Given the description of an element on the screen output the (x, y) to click on. 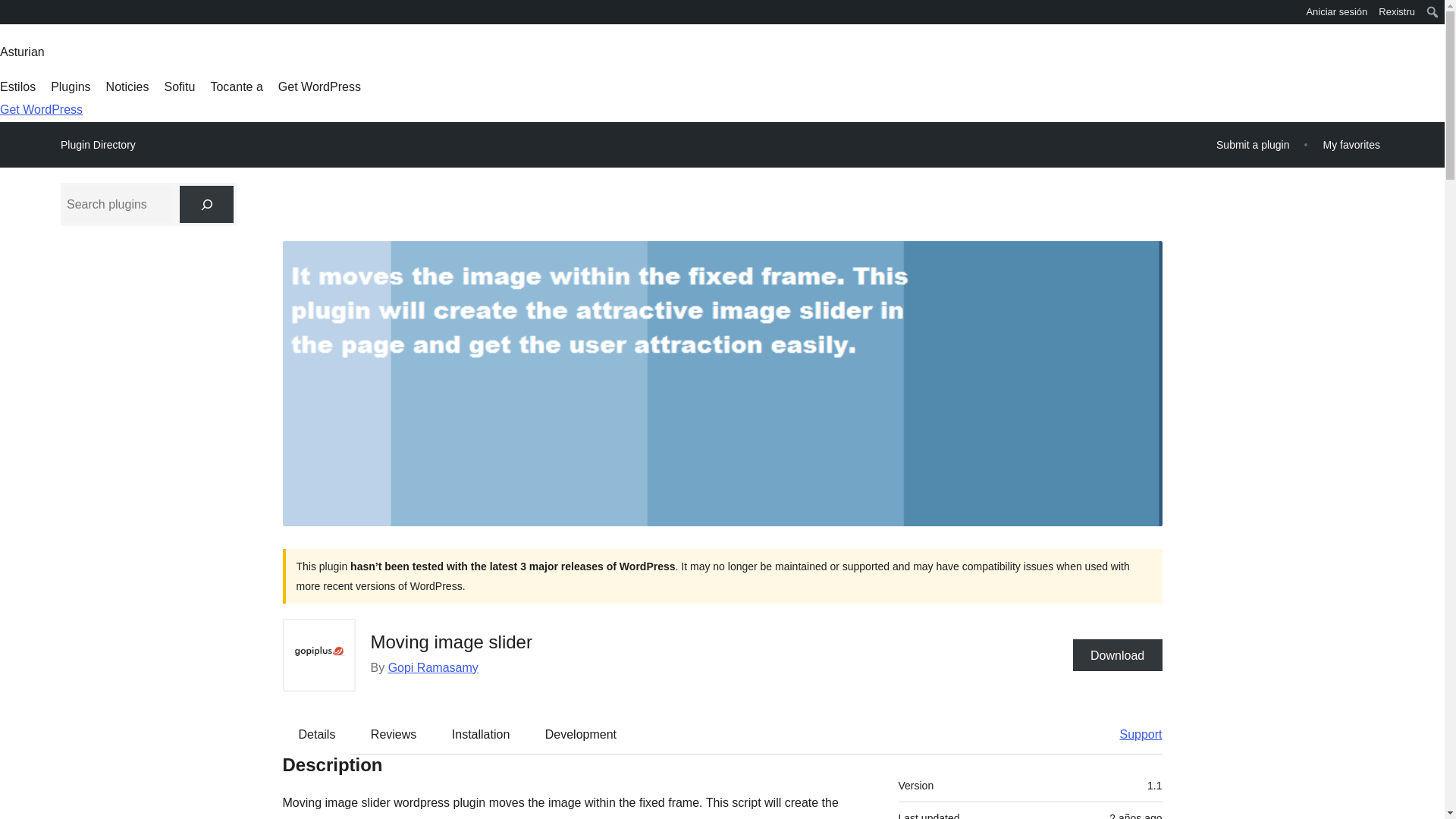
Development (580, 733)
Plugins (70, 87)
Support (1132, 733)
Download (1117, 654)
Plugin Directory (97, 144)
Sofitu (179, 87)
Reviews (392, 733)
My favorites (1351, 144)
Installation (480, 733)
WordPress.org (10, 16)
Details (316, 733)
Guetar (16, 13)
Estilos (17, 87)
Submit a plugin (1253, 144)
Tocante a (235, 87)
